Given the description of an element on the screen output the (x, y) to click on. 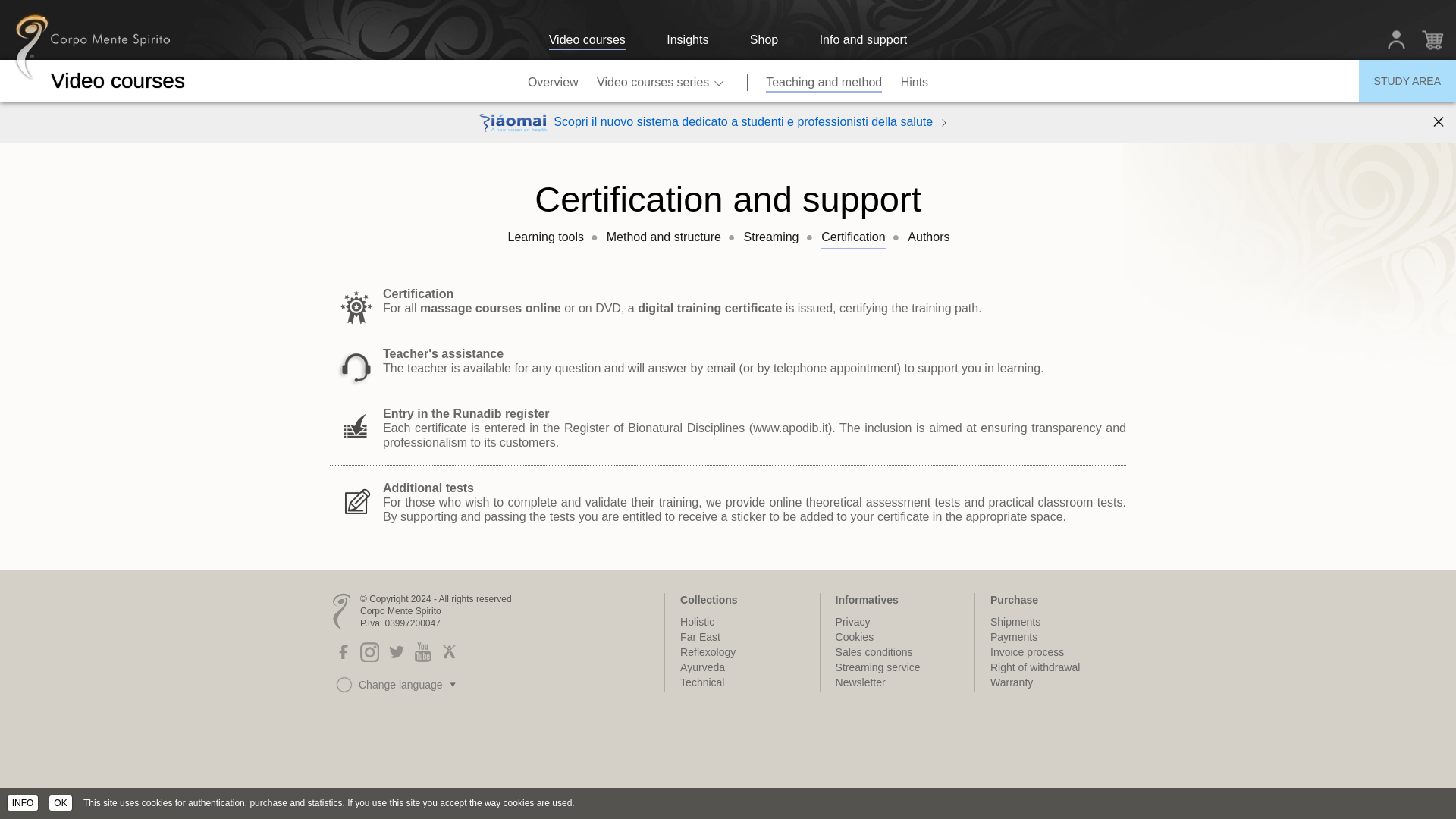
Method and structure (663, 237)
Video courses (587, 40)
Video courses series (662, 80)
Shop (763, 40)
Overview (552, 80)
Info and support (863, 40)
Insights (686, 40)
Teaching and method (823, 80)
Learning tools (546, 237)
Hints (914, 80)
